Given the description of an element on the screen output the (x, y) to click on. 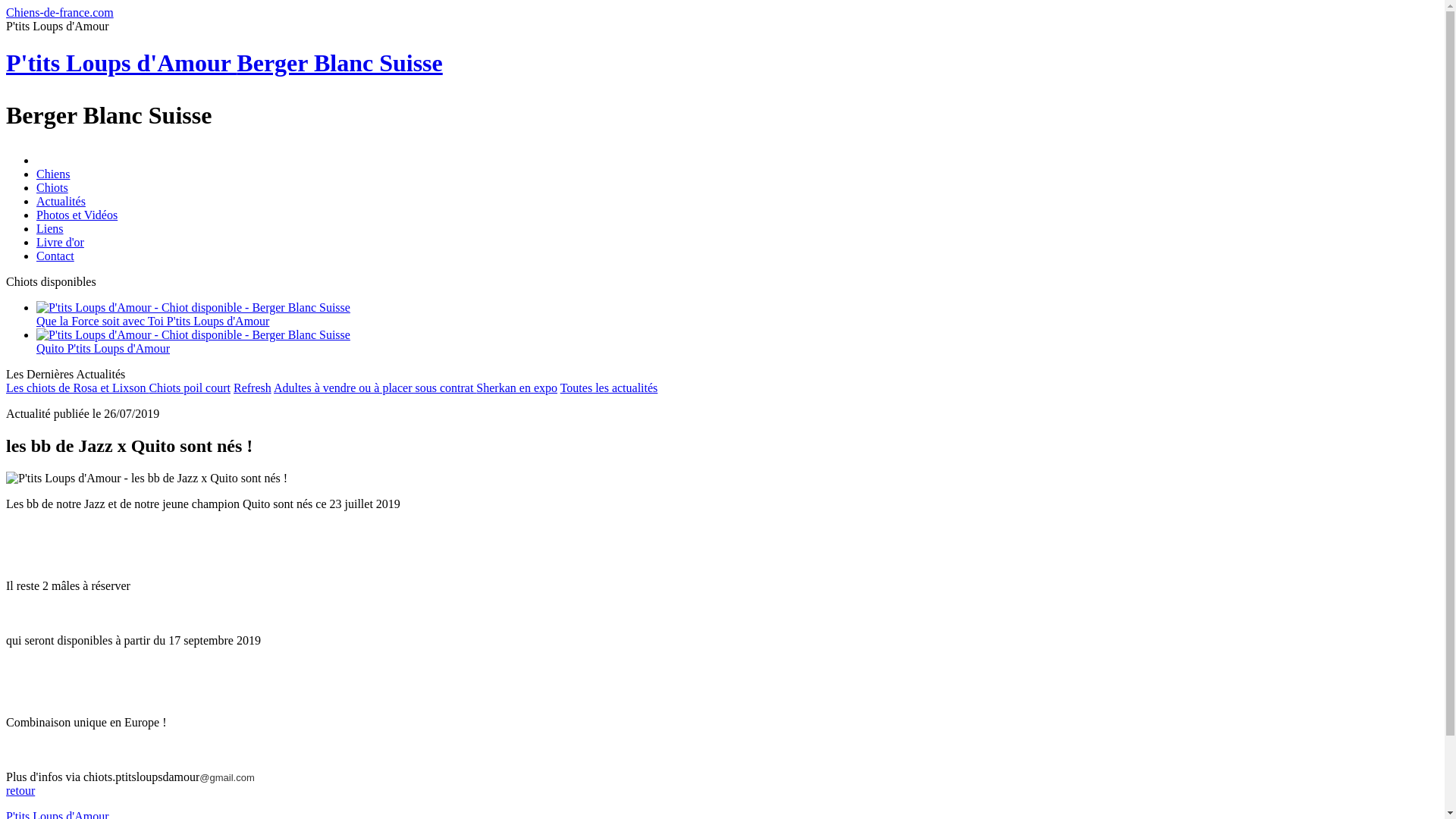
Chiots poil court Element type: text (189, 387)
Quito P'tits Loups d'Amour Element type: text (737, 341)
Chiots Element type: text (52, 187)
Les chiots de Rosa et Lixson Element type: text (77, 387)
retour Element type: text (20, 790)
Livre d'or Element type: text (60, 241)
P'tits Loups d'Amour Berger Blanc Suisse Element type: text (224, 62)
Liens Element type: text (49, 228)
Chiens-de-france.com Element type: text (59, 12)
Que la Force soit avec Toi P'tits Loups d'Amour Element type: text (737, 314)
Sherkan en expo Element type: text (516, 387)
Refresh Element type: text (252, 387)
Chiens Element type: text (52, 173)
Contact Element type: text (55, 255)
